Given the description of an element on the screen output the (x, y) to click on. 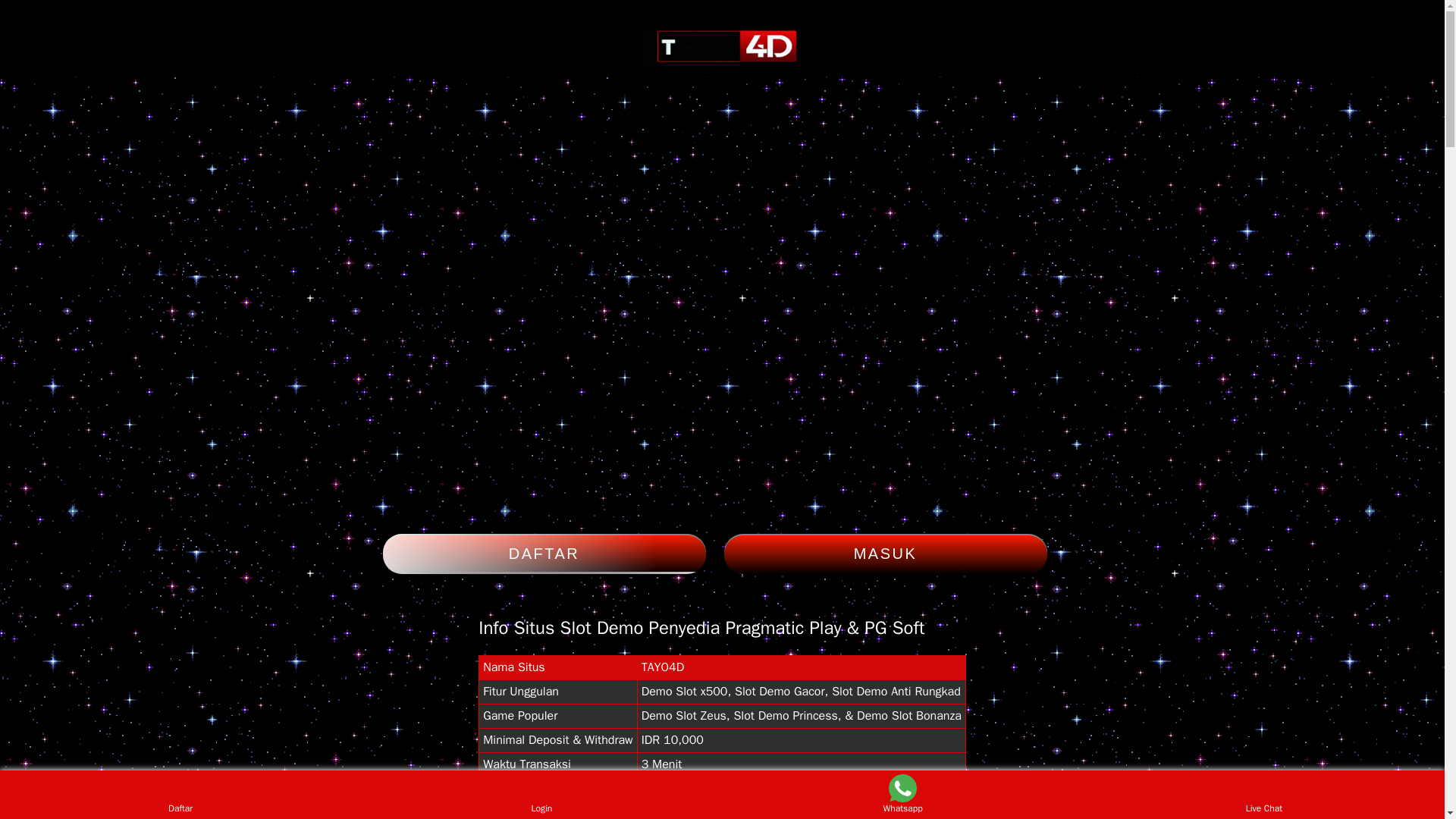
MASUK (884, 553)
DAFTAR (542, 553)
slot demo (722, 45)
